Given the description of an element on the screen output the (x, y) to click on. 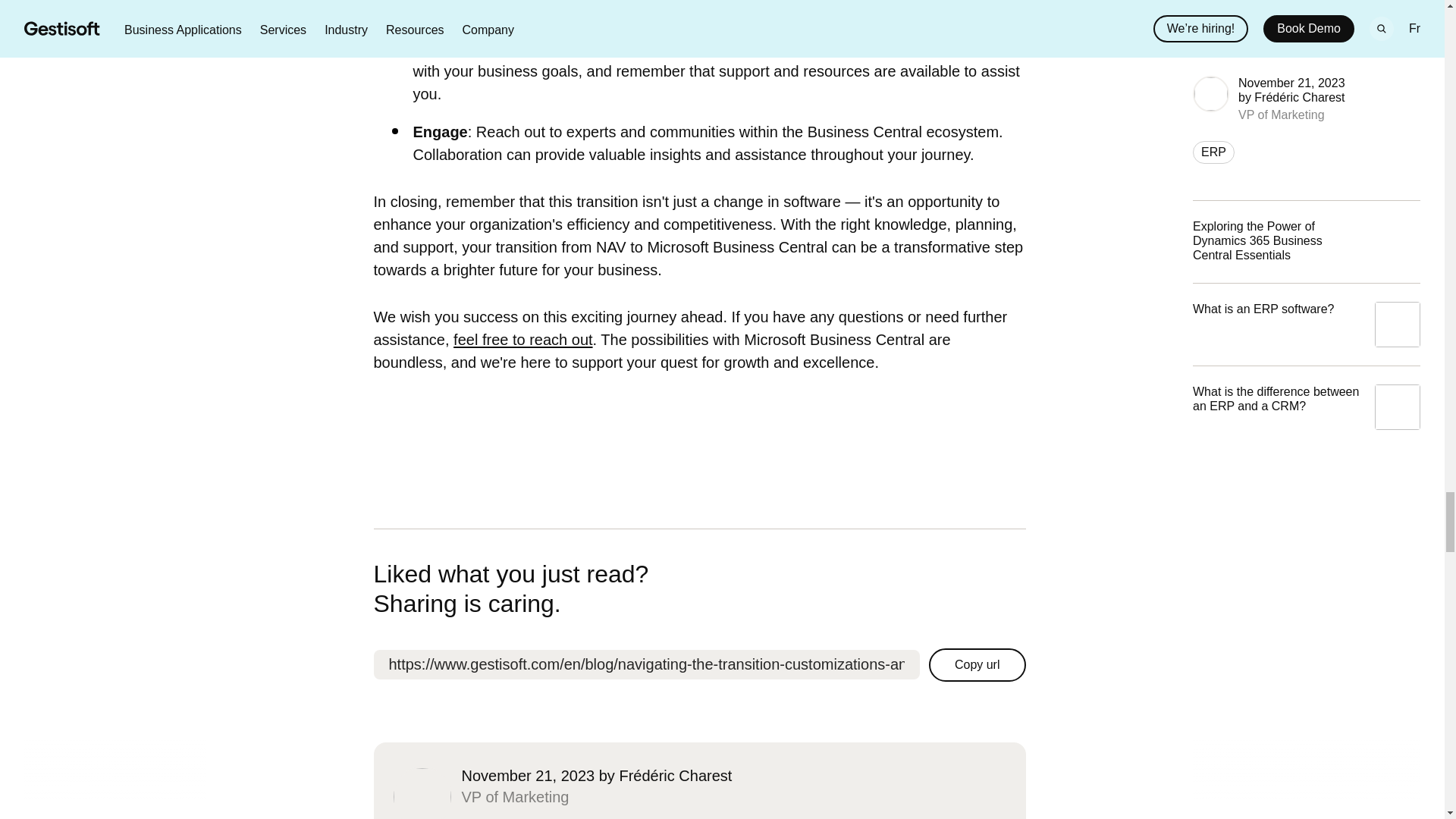
feel free to reach out (522, 339)
